Given the description of an element on the screen output the (x, y) to click on. 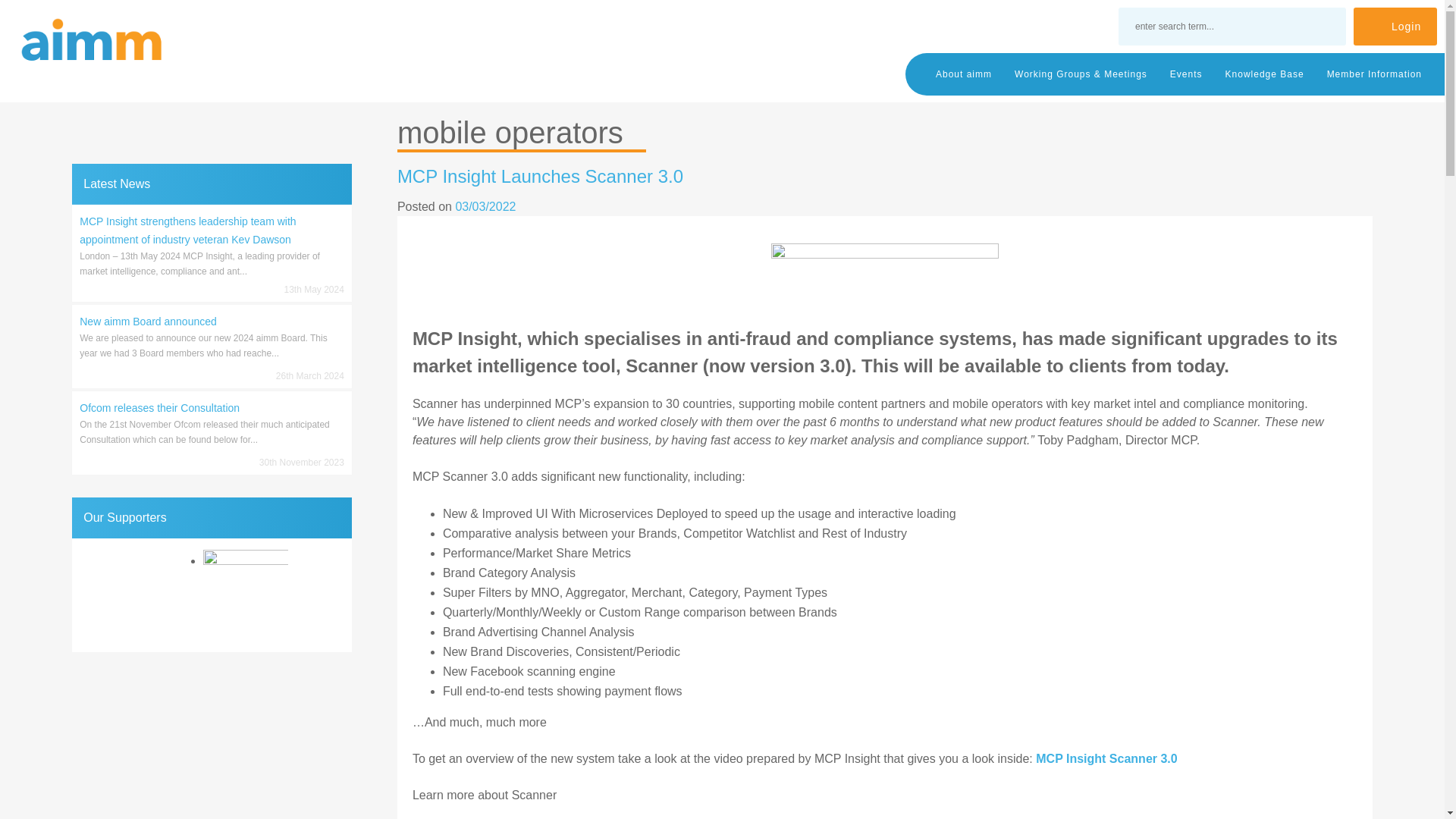
Login (1395, 26)
About aimm (963, 74)
Events (1186, 74)
